Given the description of an element on the screen output the (x, y) to click on. 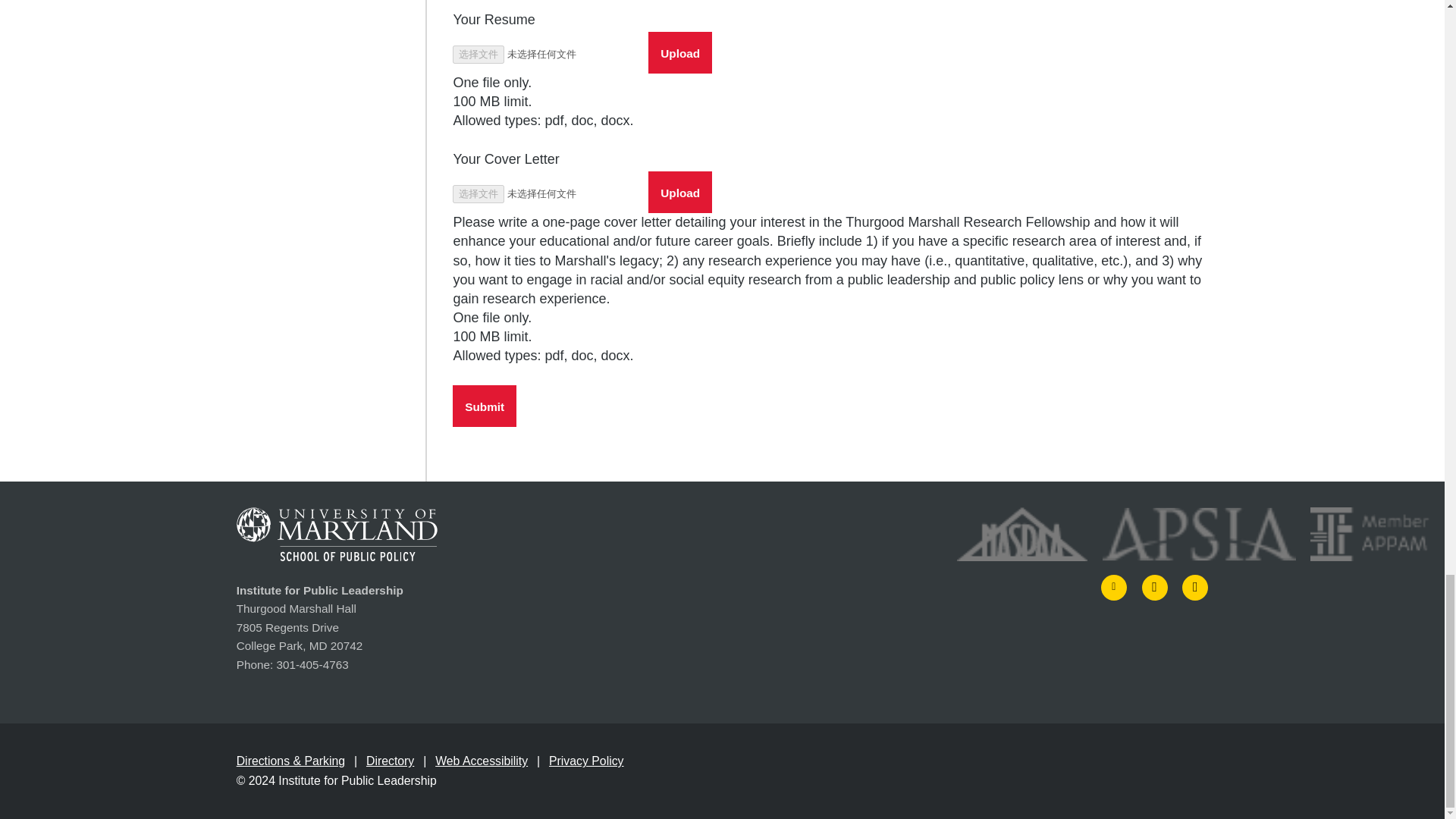
Upload (679, 191)
Submit (484, 405)
Directory (389, 760)
Submit (484, 405)
INSTAGRAM (1154, 587)
TWITTER (1113, 587)
Upload (679, 52)
Upload (679, 52)
LINKEDIN (1195, 587)
301-405-4763 (311, 665)
